Given the description of an element on the screen output the (x, y) to click on. 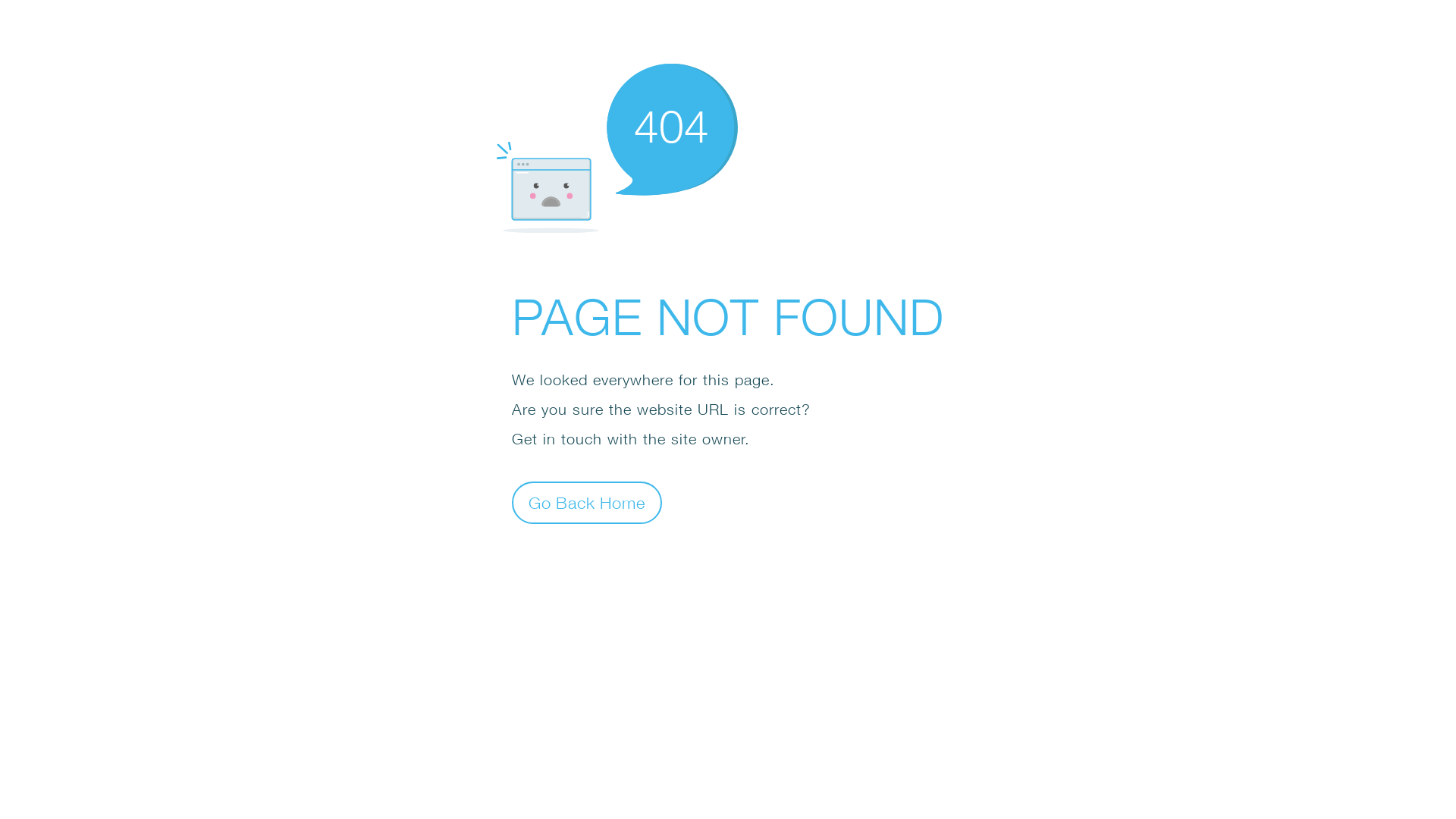
Go Back Home Element type: text (586, 502)
